Given the description of an element on the screen output the (x, y) to click on. 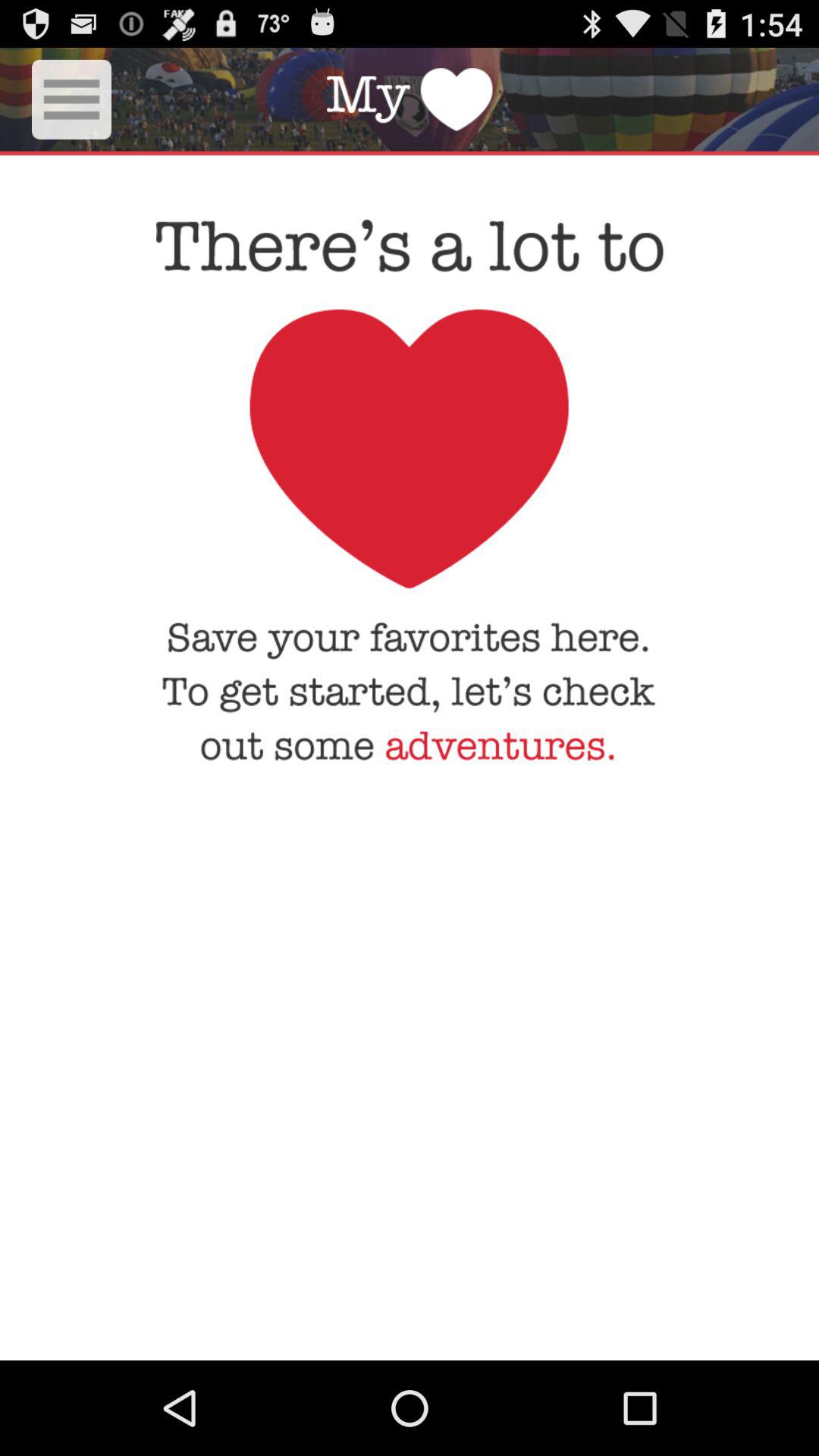
view as list (71, 99)
